Given the description of an element on the screen output the (x, y) to click on. 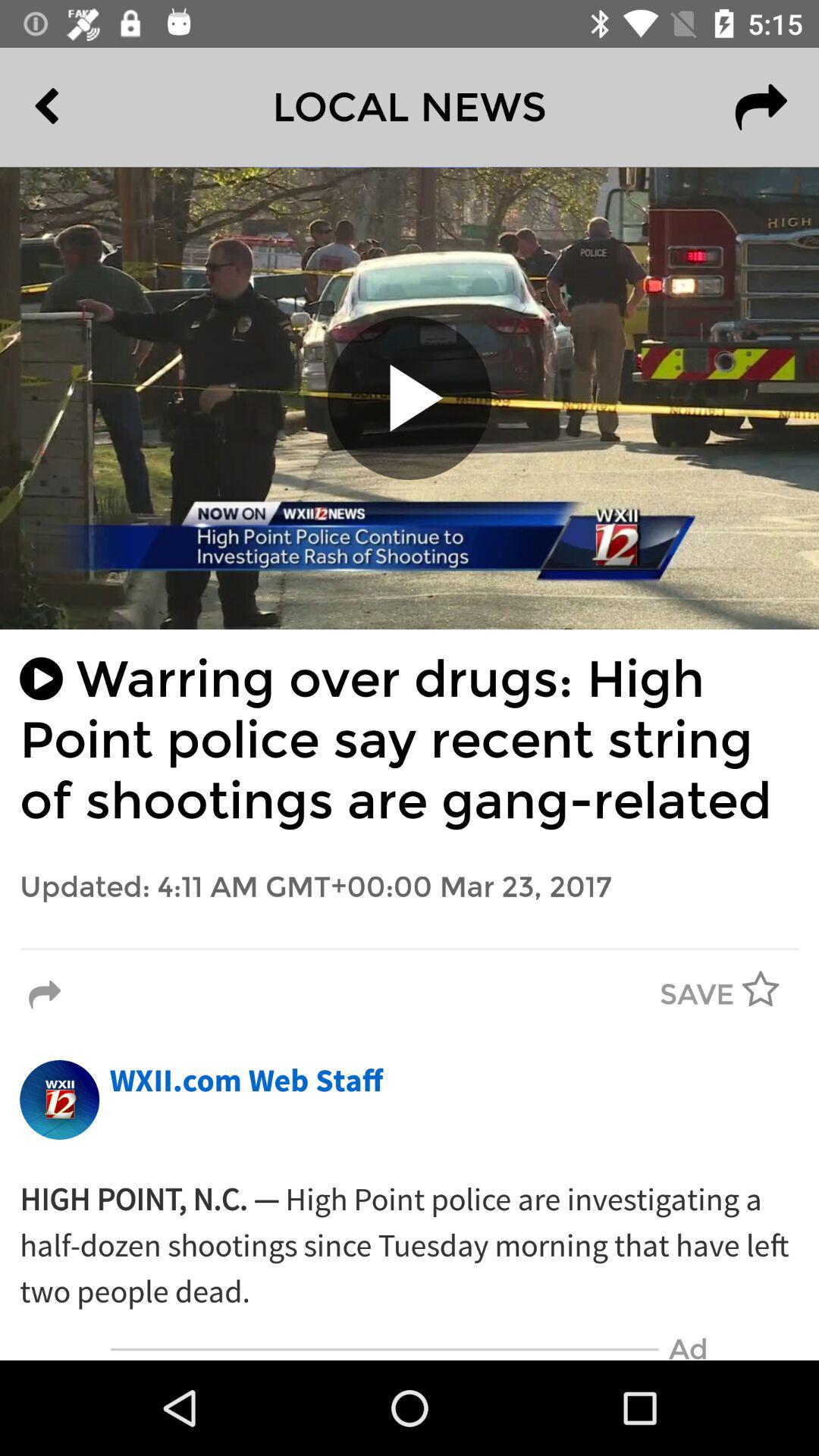
scroll until updated 4 11 (409, 887)
